Given the description of an element on the screen output the (x, y) to click on. 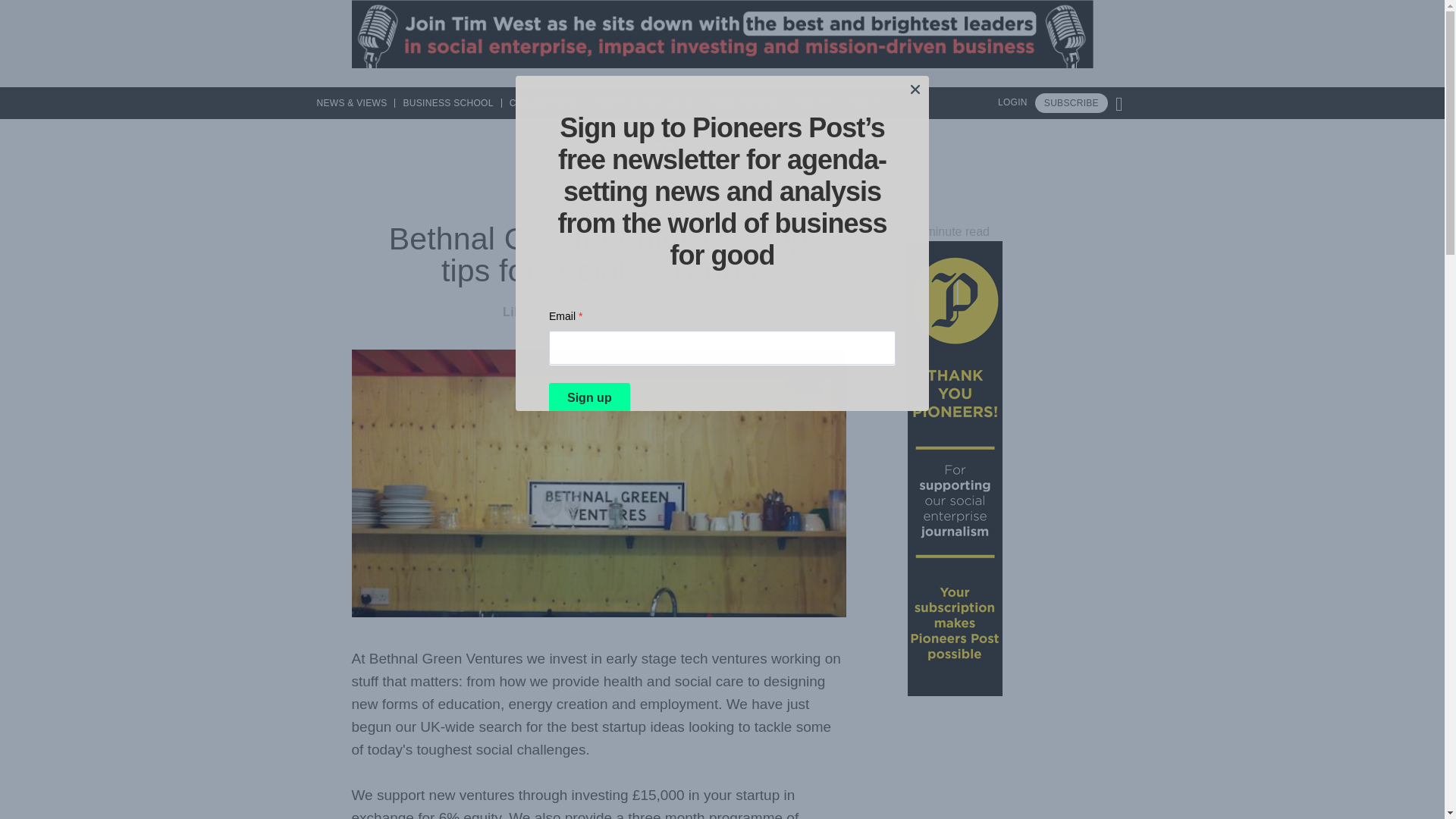
COLLECTIONS (543, 102)
SUBSCRIBE (1071, 103)
BUSINESS SCHOOL (447, 102)
Lily Ash Sakula (549, 311)
LOGIN (1012, 102)
View profile for Lily Ash Sakula (549, 311)
EVENTS (811, 102)
PUBLICATIONS (742, 102)
ABOUT (857, 102)
